Given the description of an element on the screen output the (x, y) to click on. 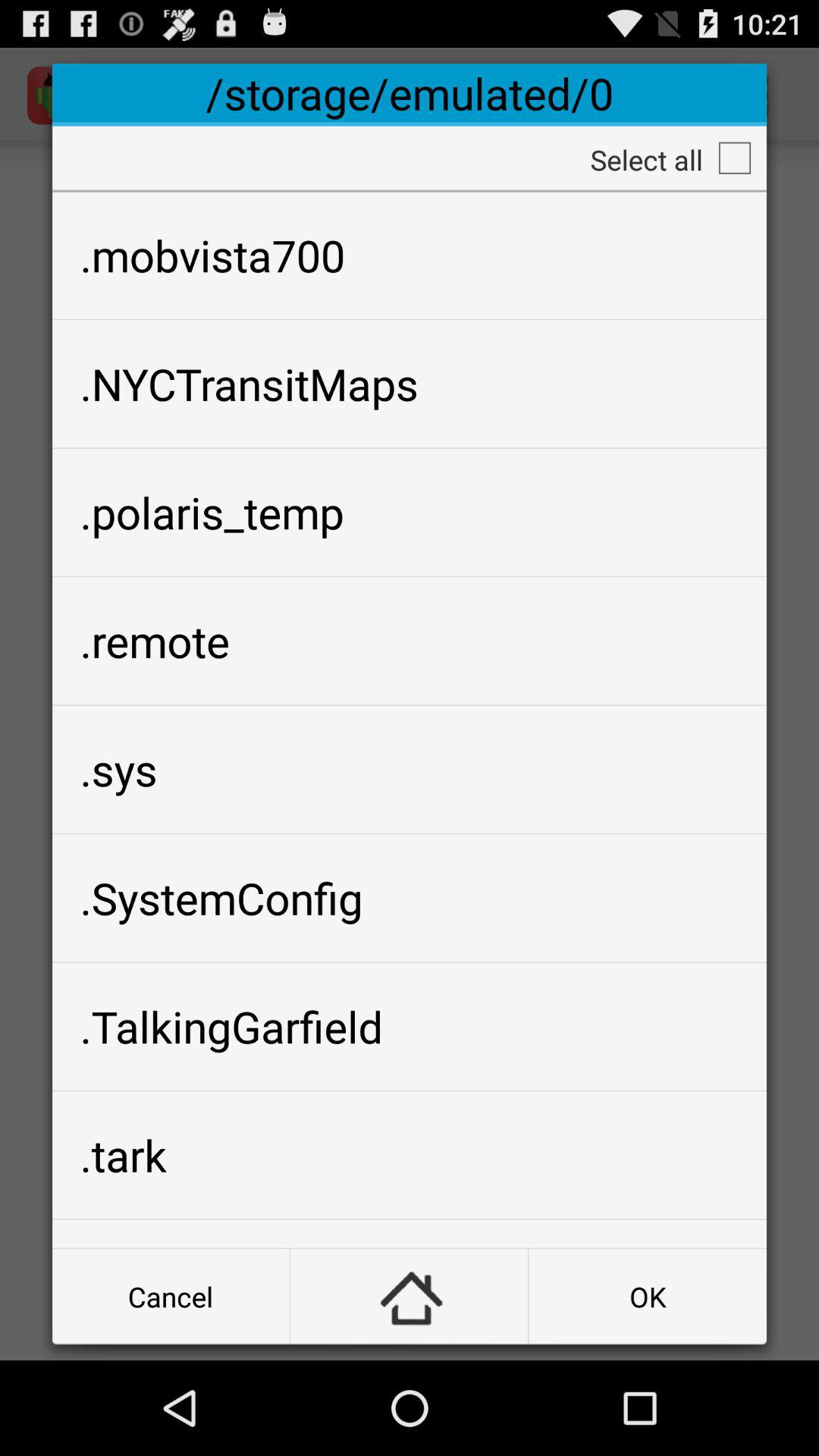
choose button (408, 1296)
